Given the description of an element on the screen output the (x, y) to click on. 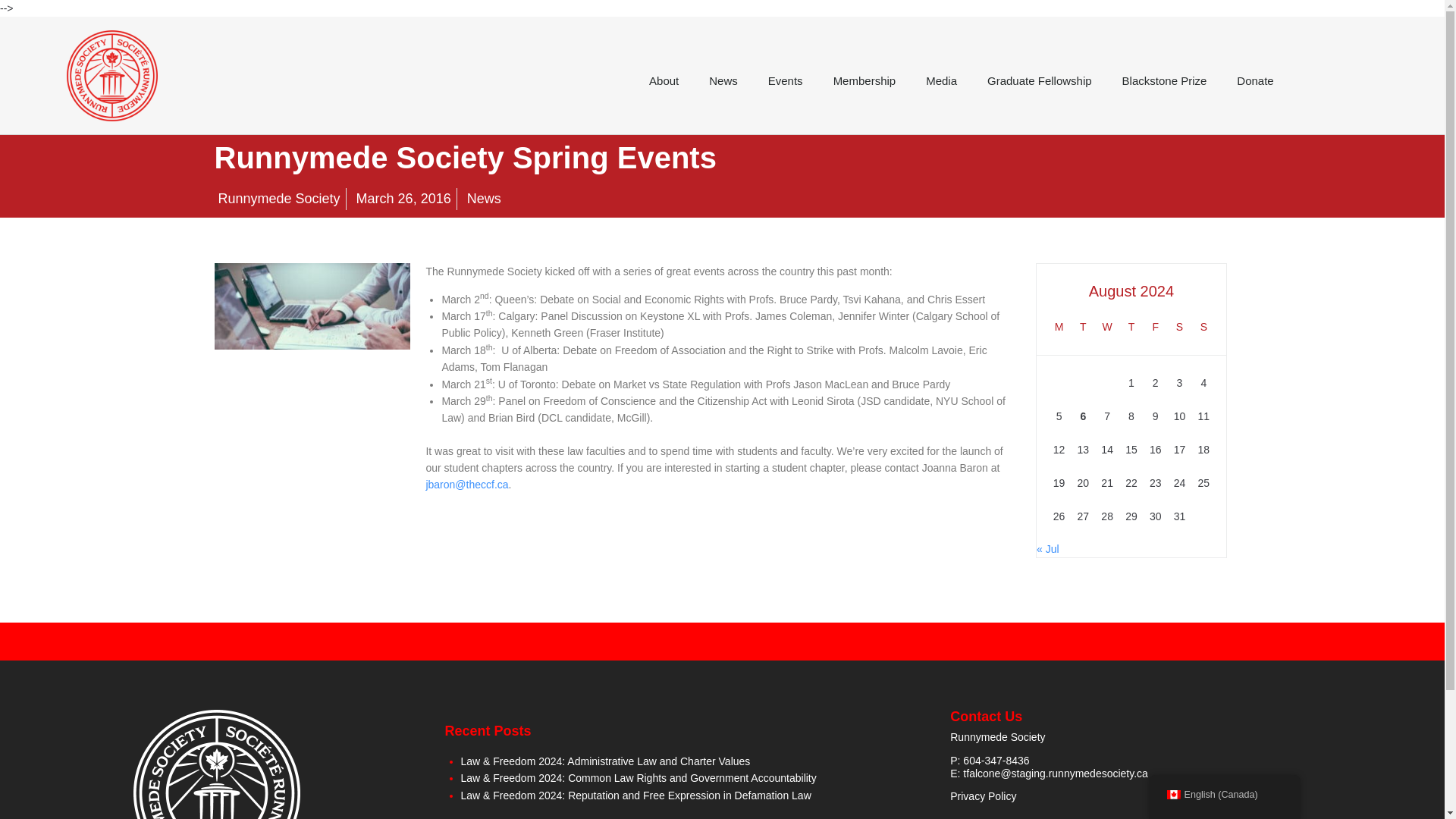
Runnymede Society (276, 198)
Privacy Policy (983, 796)
Blackstone Prize (1164, 80)
Graduate Fellowship (1039, 80)
March 26, 2016 (401, 198)
News (483, 198)
